Given the description of an element on the screen output the (x, y) to click on. 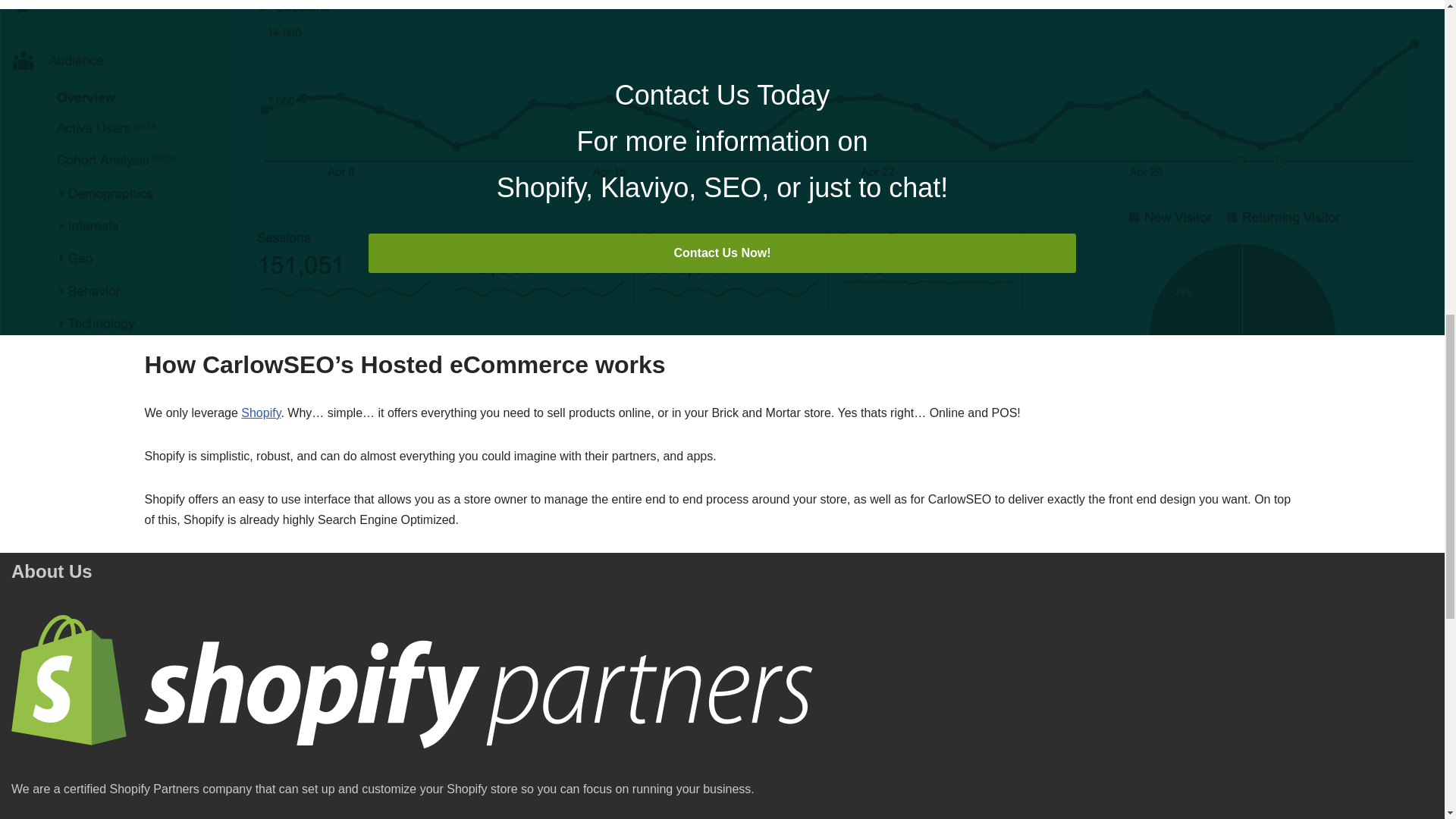
Contact Us Now! (721, 252)
Shopify (261, 412)
